Given the description of an element on the screen output the (x, y) to click on. 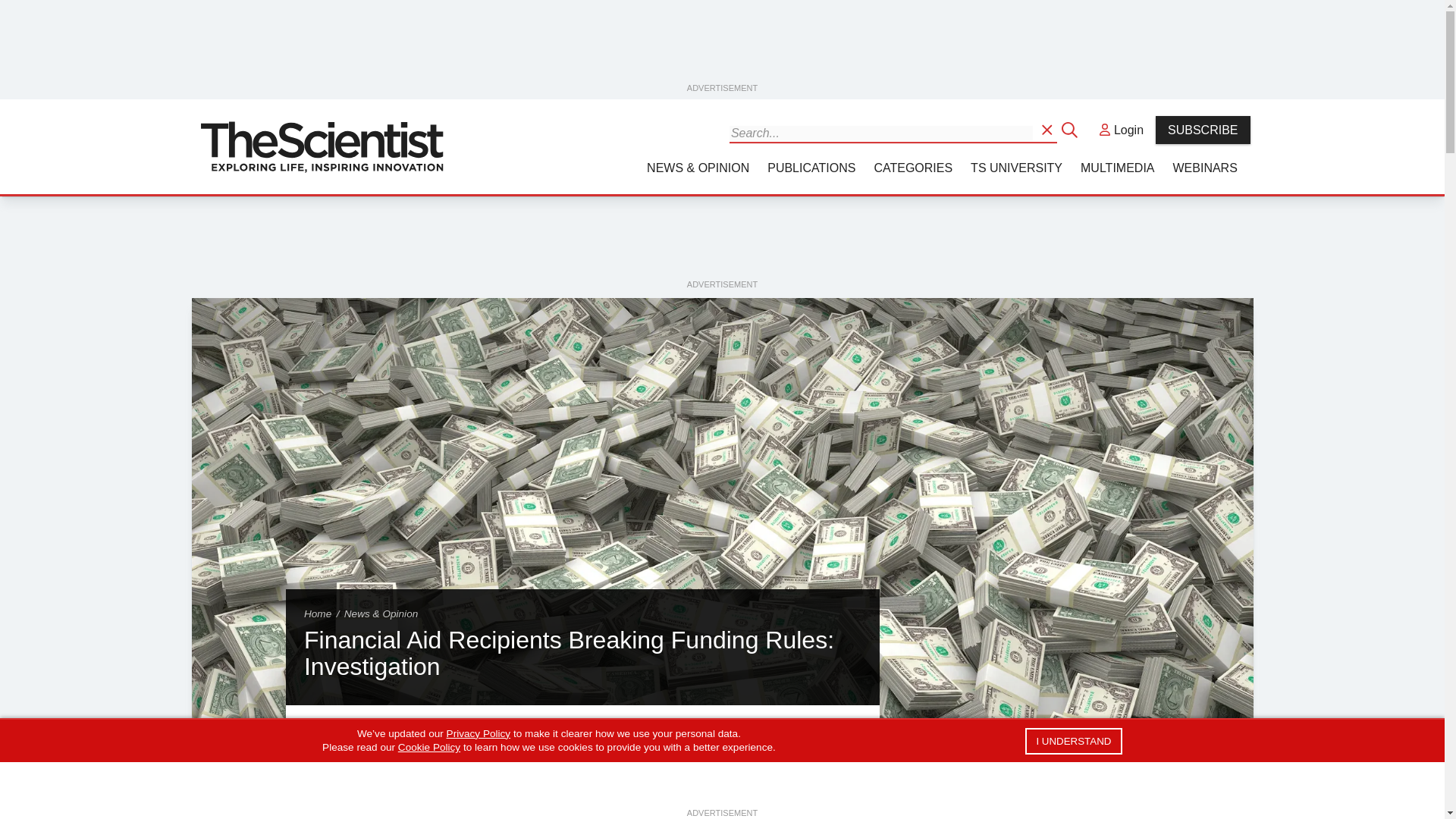
Catherine Offord (328, 806)
Open Search (1049, 129)
3rd party ad content (1100, 790)
3rd party ad content (721, 242)
3rd party ad content (722, 46)
Close Search (1071, 129)
